Given the description of an element on the screen output the (x, y) to click on. 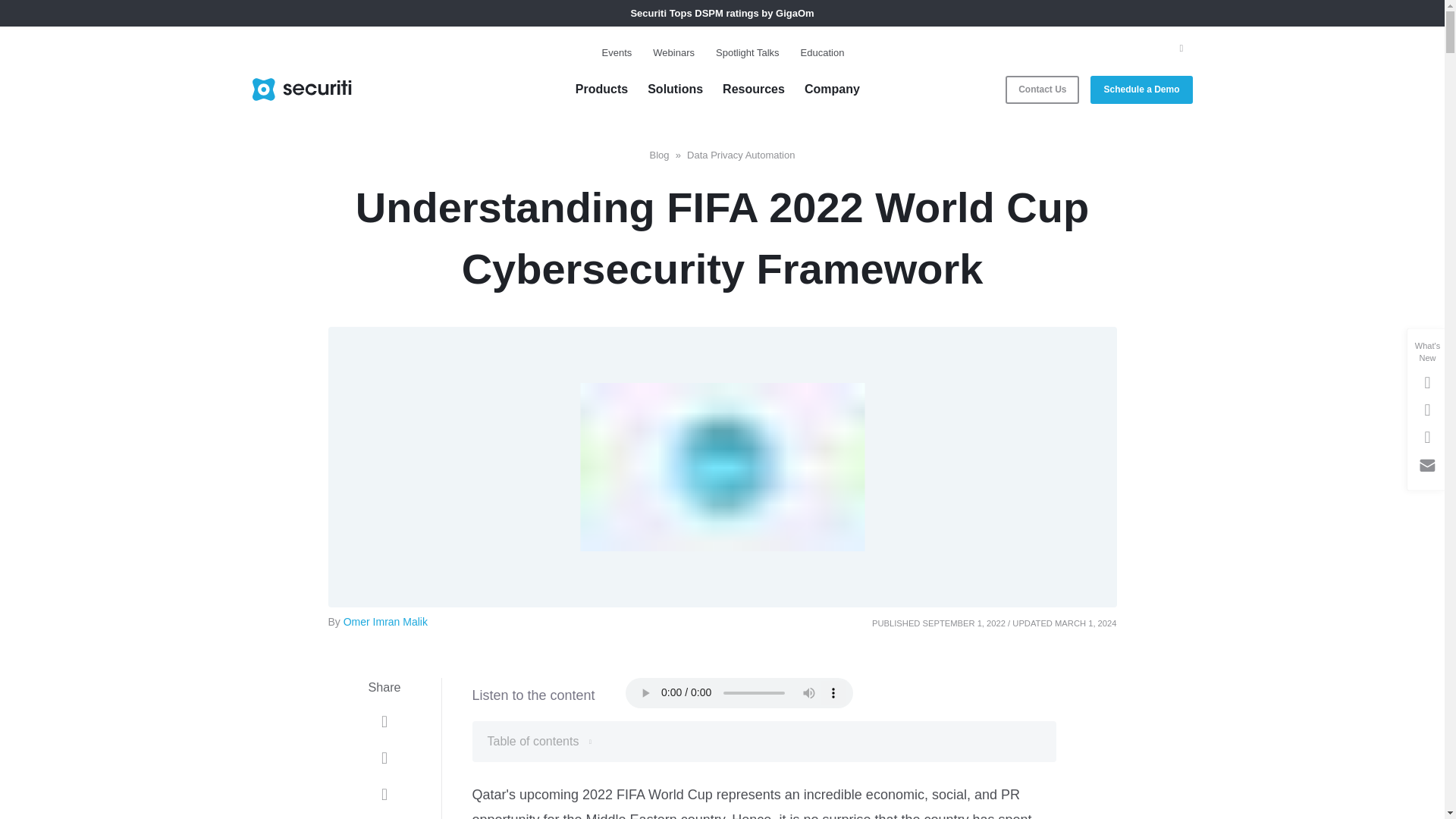
Products (601, 89)
Events (617, 53)
Education (822, 53)
Contact Us (1042, 90)
Schedule a Demo (1141, 90)
Webinars (674, 53)
Spotlight Talks (747, 53)
